Given the description of an element on the screen output the (x, y) to click on. 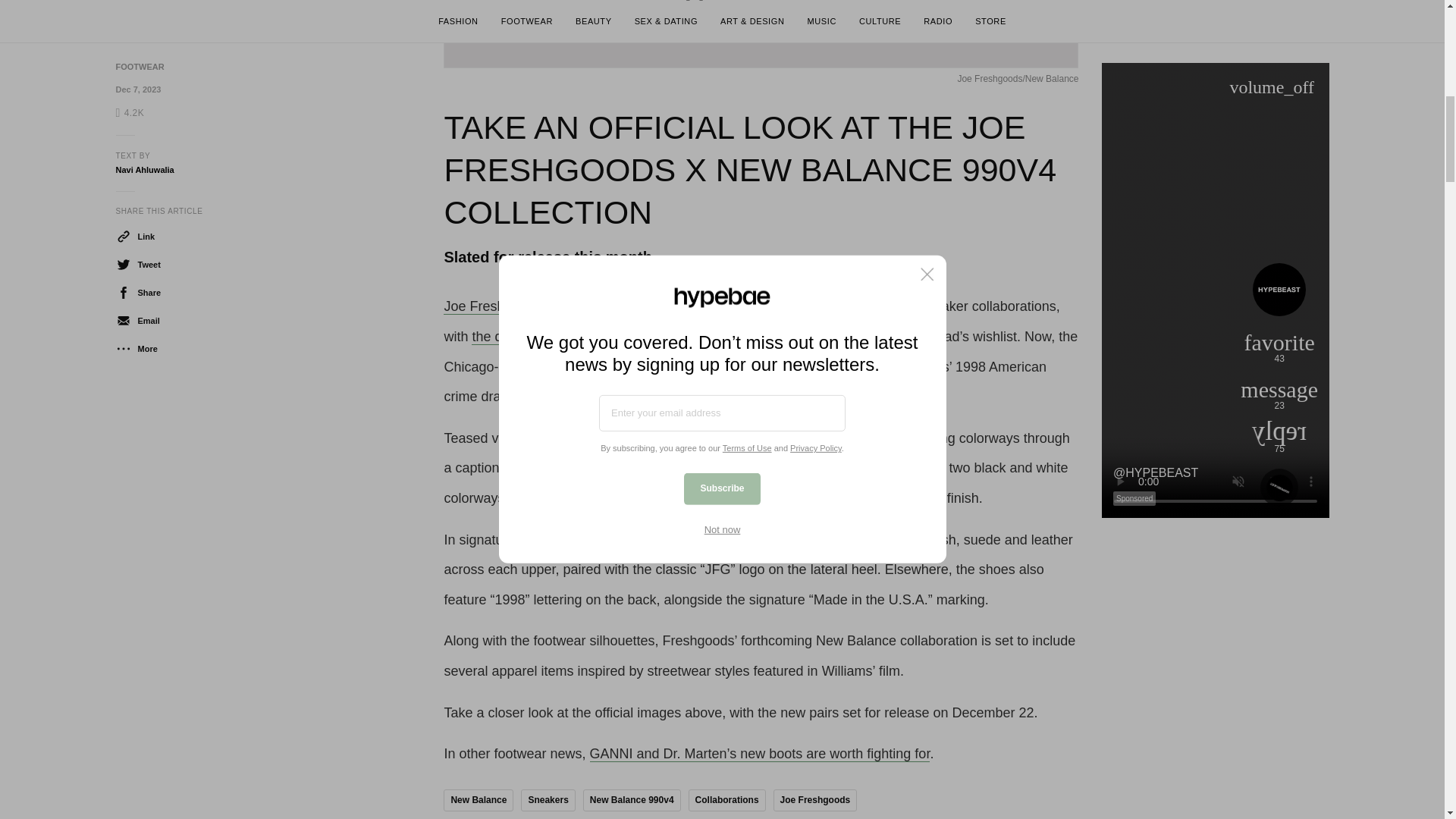
Joe Freshgoods (815, 800)
New Balance (478, 800)
New Balance (612, 306)
New Balance 990v4 (632, 800)
Joe Freshgoods (492, 306)
Sneakers (548, 800)
Collaborations (726, 800)
3rd party ad content (1213, 49)
